Given the description of an element on the screen output the (x, y) to click on. 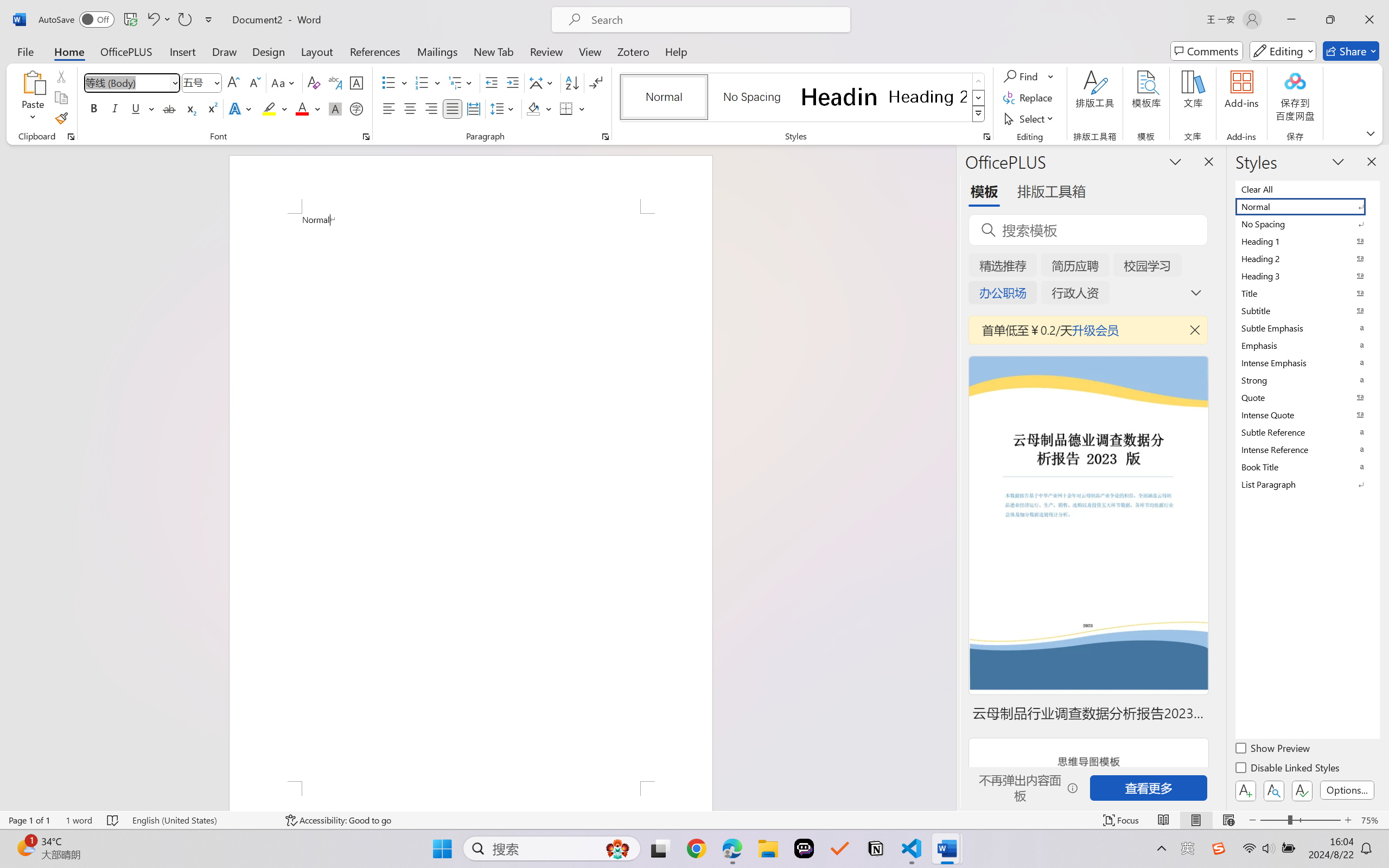
Text Highlight Color Yellow (269, 108)
Bullets (388, 82)
Replace... (1029, 97)
Find (1022, 75)
Customize Quick Access Toolbar (208, 19)
Bullets (395, 82)
Asian Layout (542, 82)
Format Painter (60, 118)
Borders (566, 108)
Zotero (632, 51)
Find (1029, 75)
Subtle Emphasis (1306, 327)
Numbering (421, 82)
Styles... (986, 136)
